Given the description of an element on the screen output the (x, y) to click on. 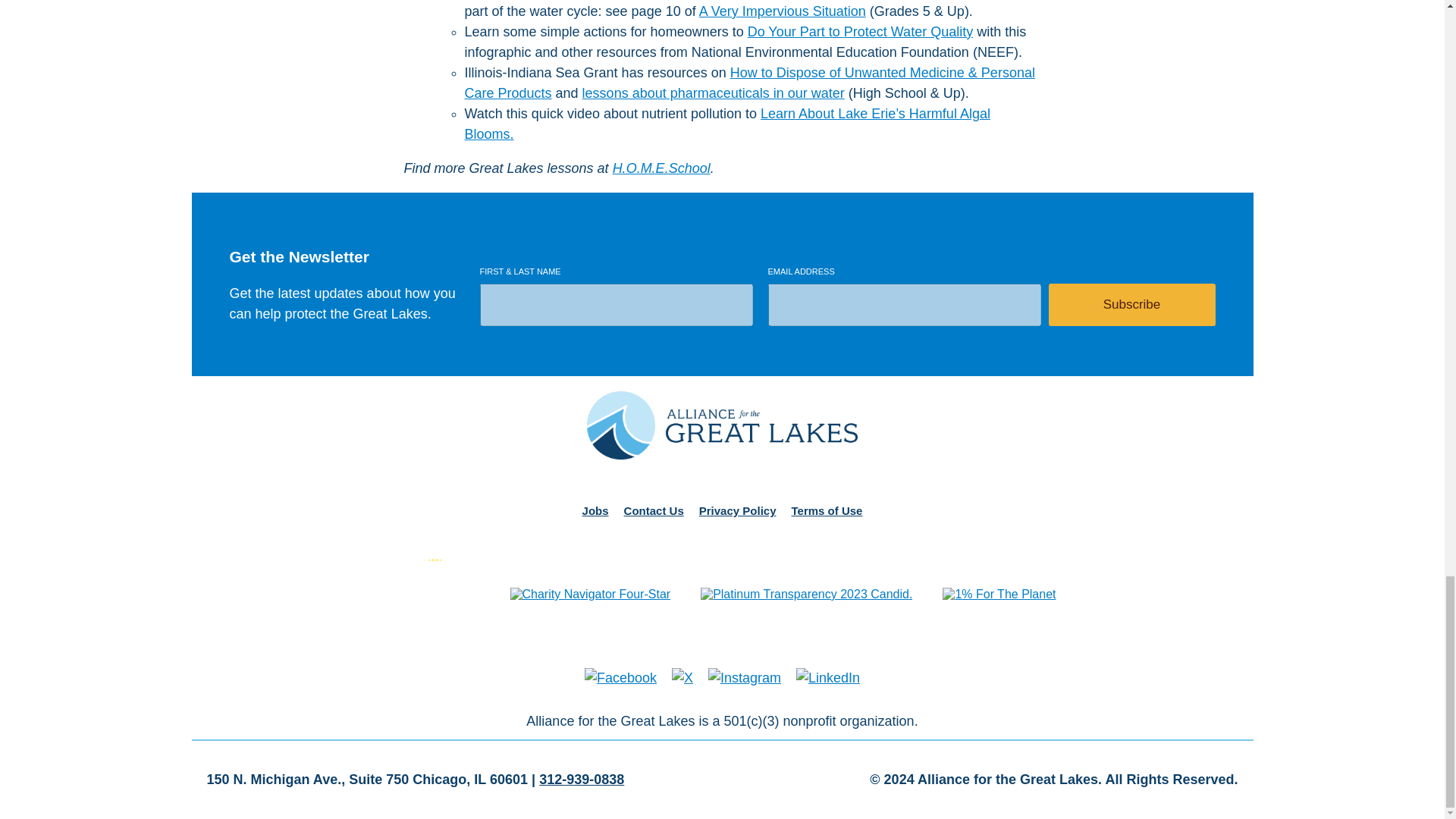
lessons about pharmaceuticals in our water (713, 92)
A Very Impervious Situation (782, 11)
Alliance for the Great Lakes (721, 426)
Subscribe (1131, 304)
H.O.M.E.School (661, 168)
Contact Us (654, 510)
Terms of Use (827, 510)
Do Your Part to Protect Water Quality (860, 31)
Privacy Policy (737, 510)
Jobs (595, 510)
